Given the description of an element on the screen output the (x, y) to click on. 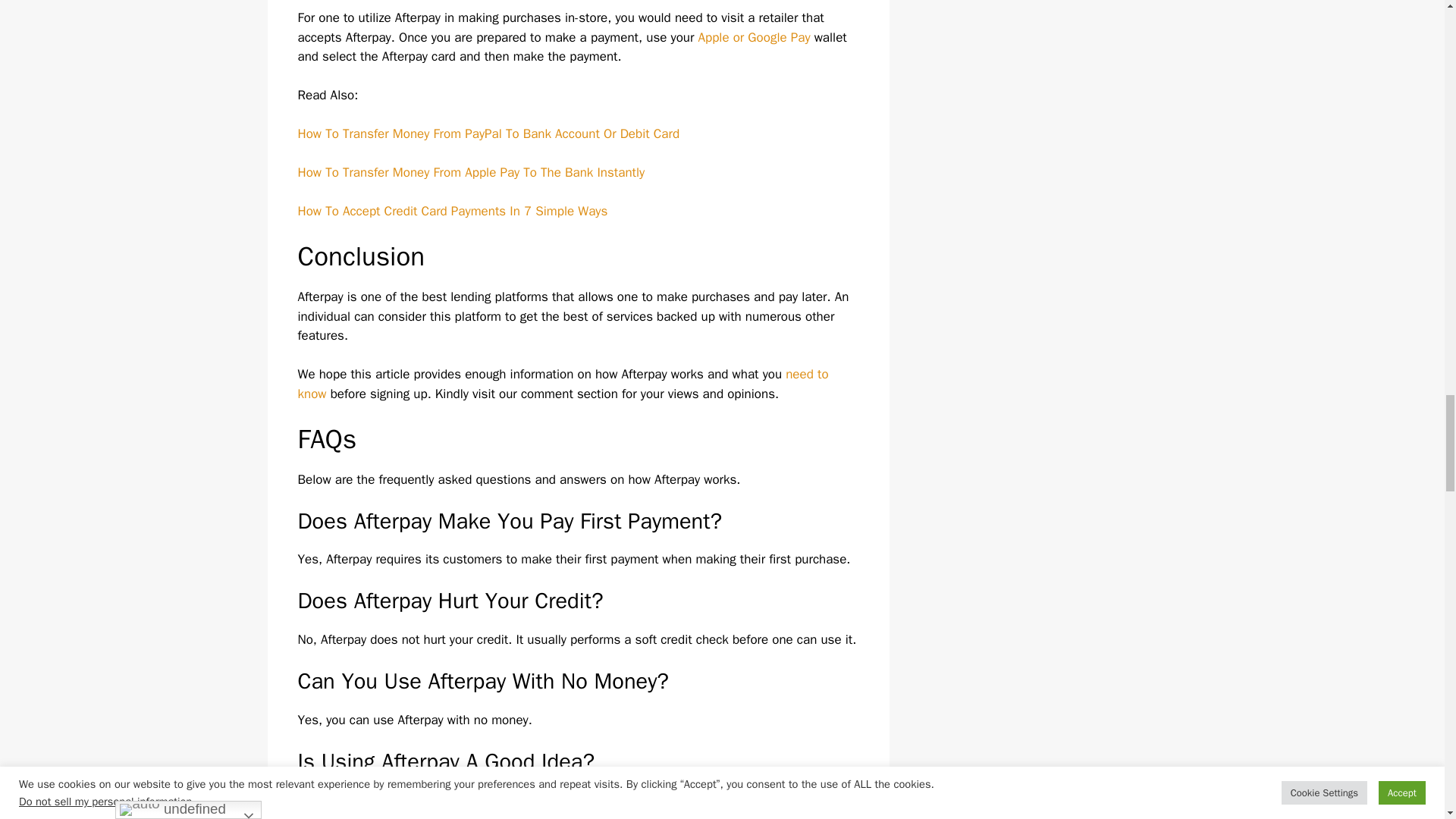
Apple or Google Pay (753, 37)
How To Transfer Money From Apple Pay To The Bank Instantly (471, 172)
How To Accept Credit Card Payments In 7 Simple Ways (452, 211)
need to know (562, 384)
